Given the description of an element on the screen output the (x, y) to click on. 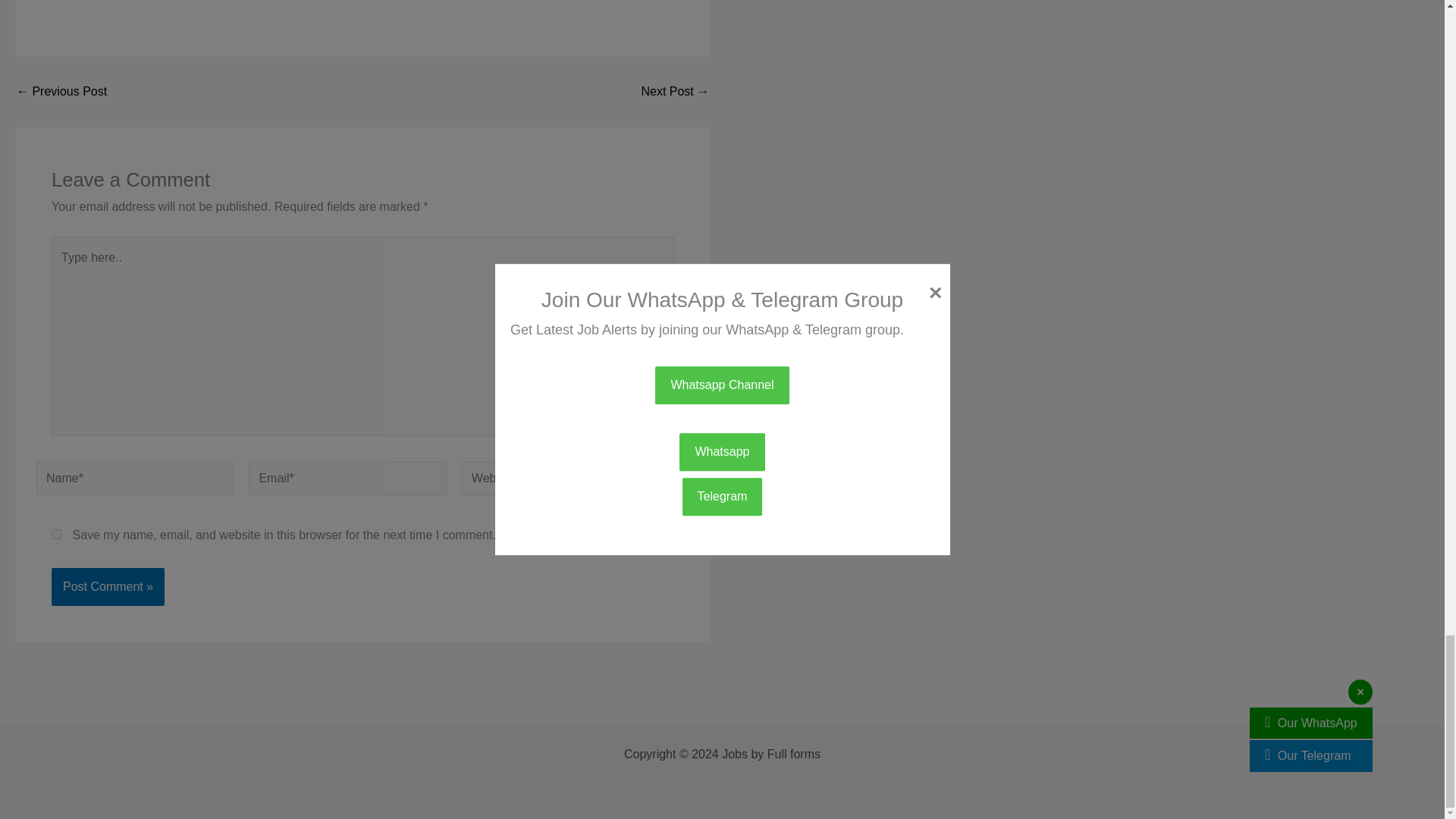
yes (55, 533)
Vegetable Farm Workers Jobs in Canada with Visa Sponsorship (61, 91)
